Given the description of an element on the screen output the (x, y) to click on. 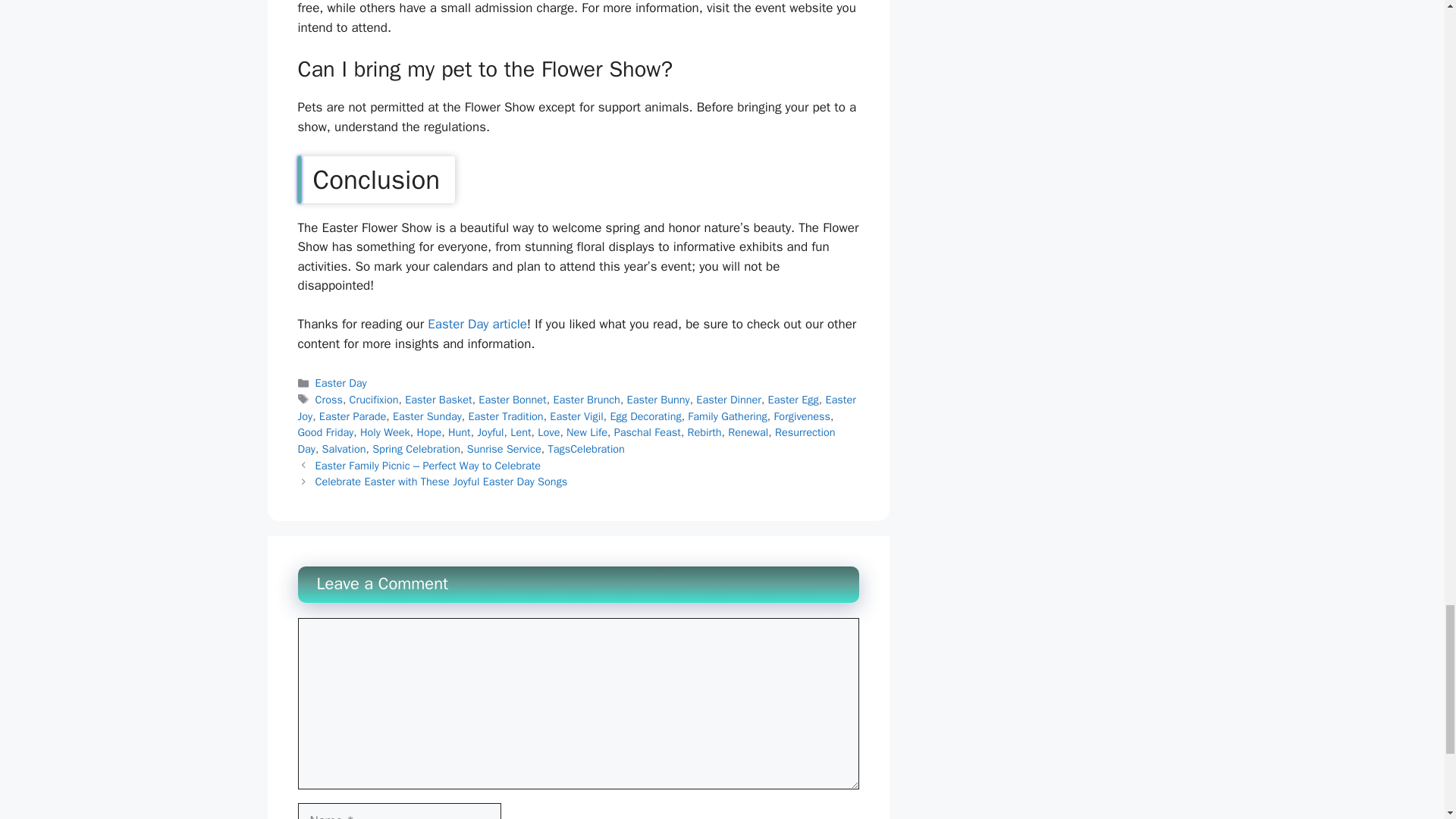
Lent (521, 431)
Hunt (459, 431)
Easter Tradition (505, 416)
Easter Dinner (728, 399)
Easter Sunday (427, 416)
Hope (428, 431)
Easter Egg (793, 399)
Easter Basket (437, 399)
Cross (328, 399)
Easter Parade (352, 416)
Egg Decorating (645, 416)
Easter Bunny (658, 399)
Good Friday (325, 431)
Forgiveness (801, 416)
Holy Week (384, 431)
